Given the description of an element on the screen output the (x, y) to click on. 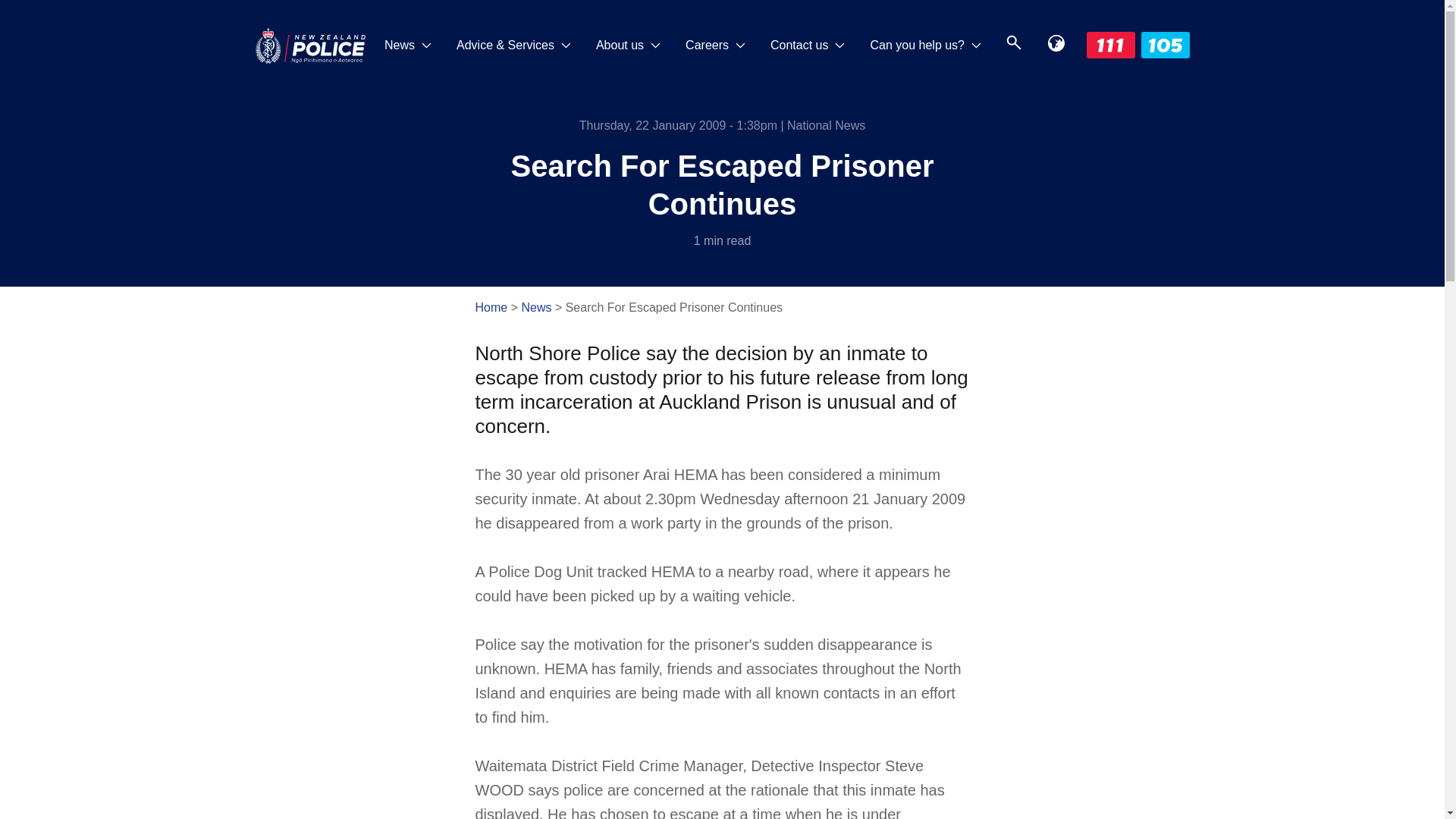
111 icon (1110, 44)
News (408, 45)
105 icon (1164, 44)
